Given the description of an element on the screen output the (x, y) to click on. 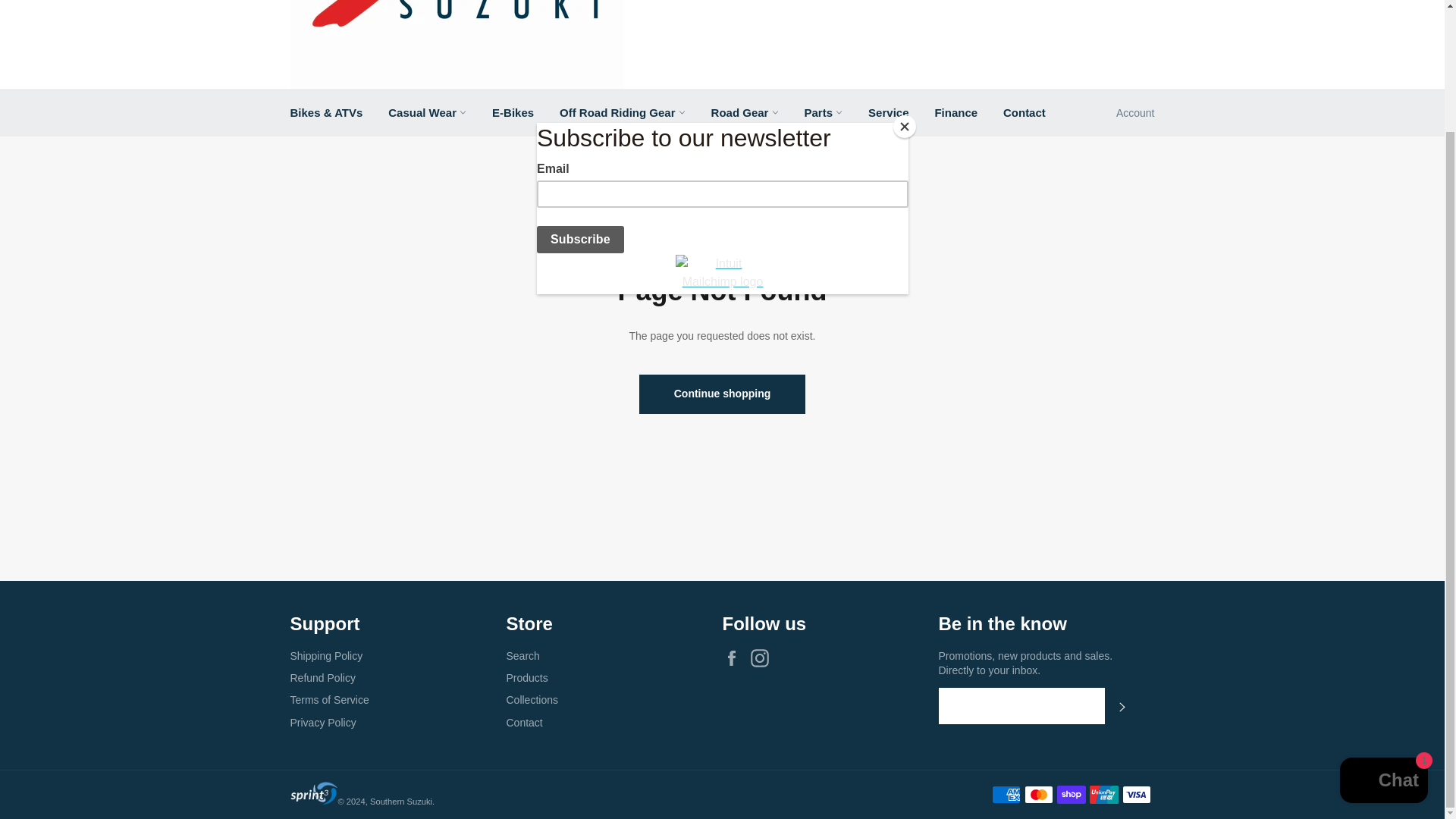
Southern Suzuki on Facebook (735, 658)
My image (313, 793)
Southern Suzuki on Instagram (763, 658)
Shopify online store chat (1383, 635)
